Given the description of an element on the screen output the (x, y) to click on. 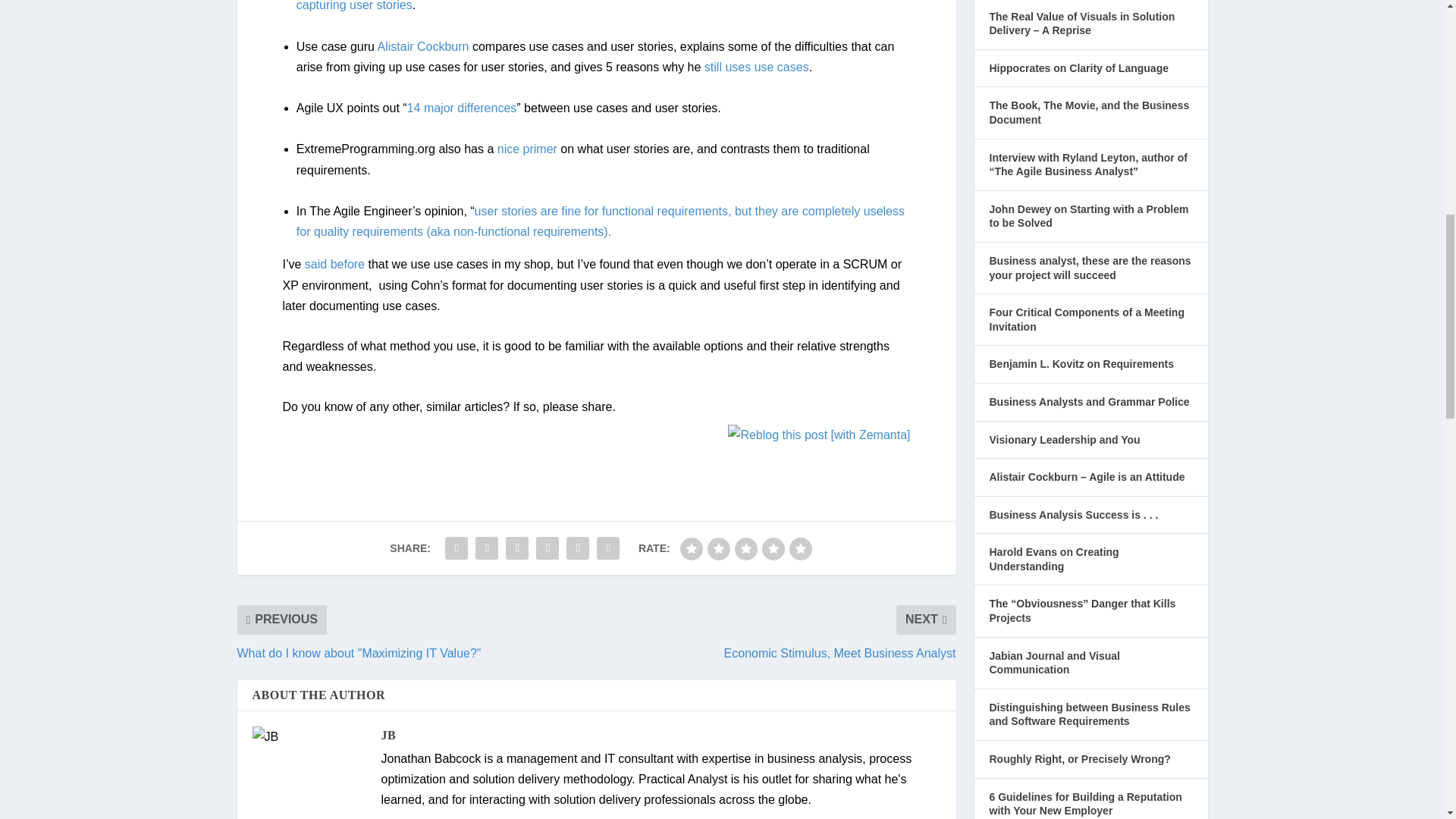
Share "Use Cases or User Stories? Read Up!" via Facebook (456, 548)
Share "Use Cases or User Stories? Read Up!" via Pinterest (517, 548)
useful format for capturing user stories (594, 5)
Alistair Cockburn (422, 46)
Share "Use Cases or User Stories? Read Up!" via Twitter (486, 548)
